Given the description of an element on the screen output the (x, y) to click on. 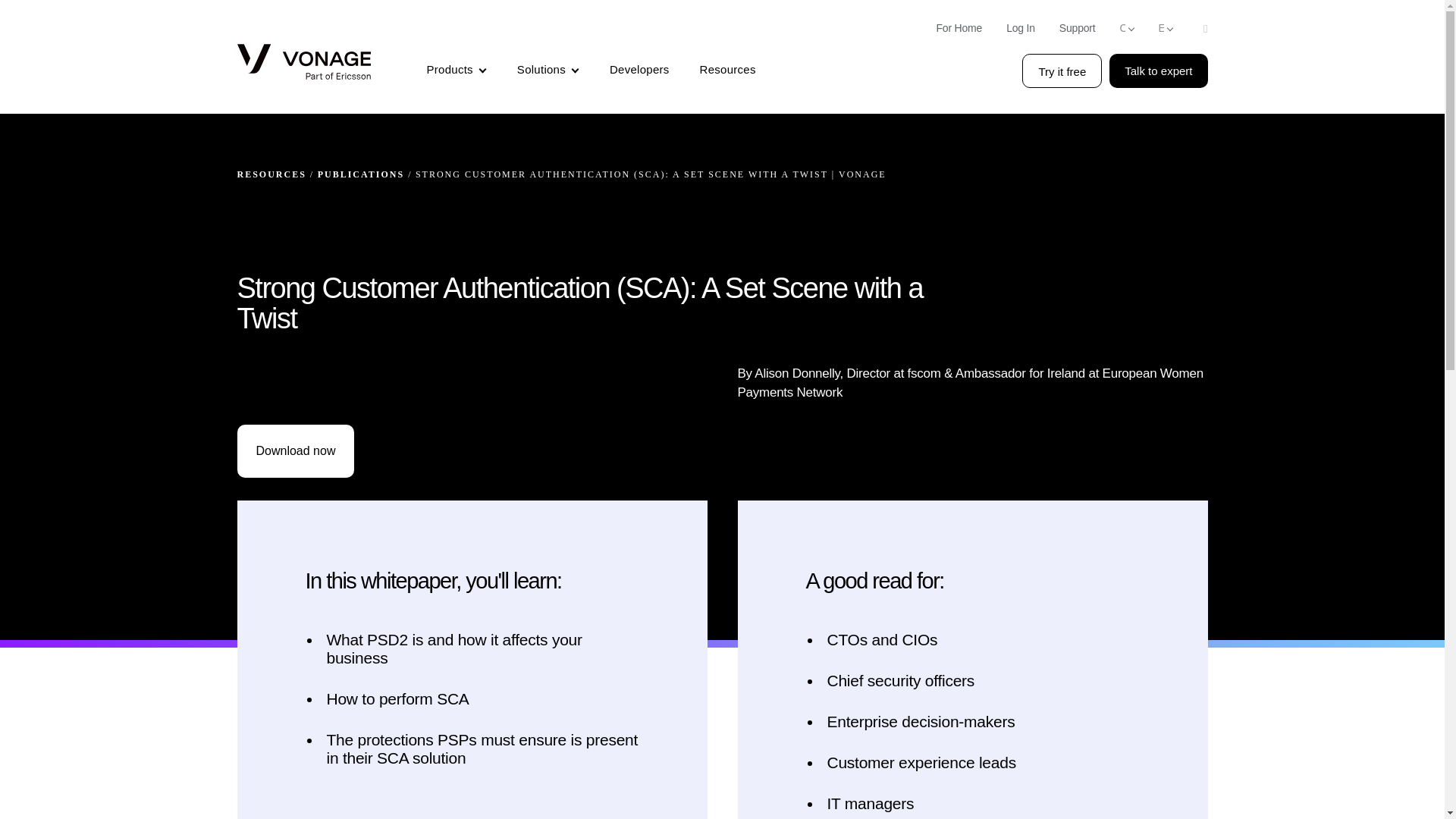
Products (456, 70)
